Given the description of an element on the screen output the (x, y) to click on. 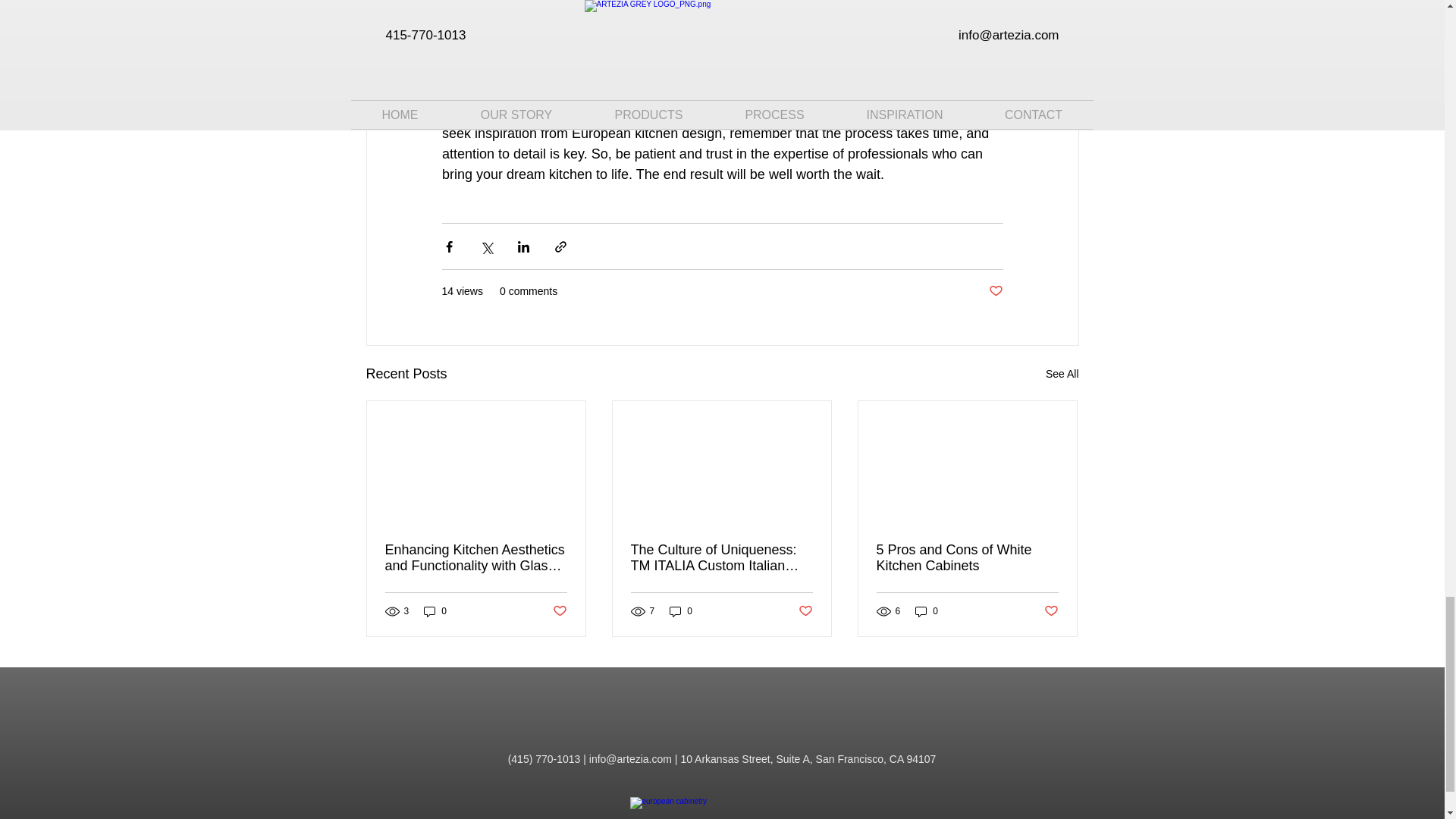
See All (1061, 373)
Post not marked as liked (995, 291)
0 (435, 611)
Post not marked as liked (558, 611)
